Given the description of an element on the screen output the (x, y) to click on. 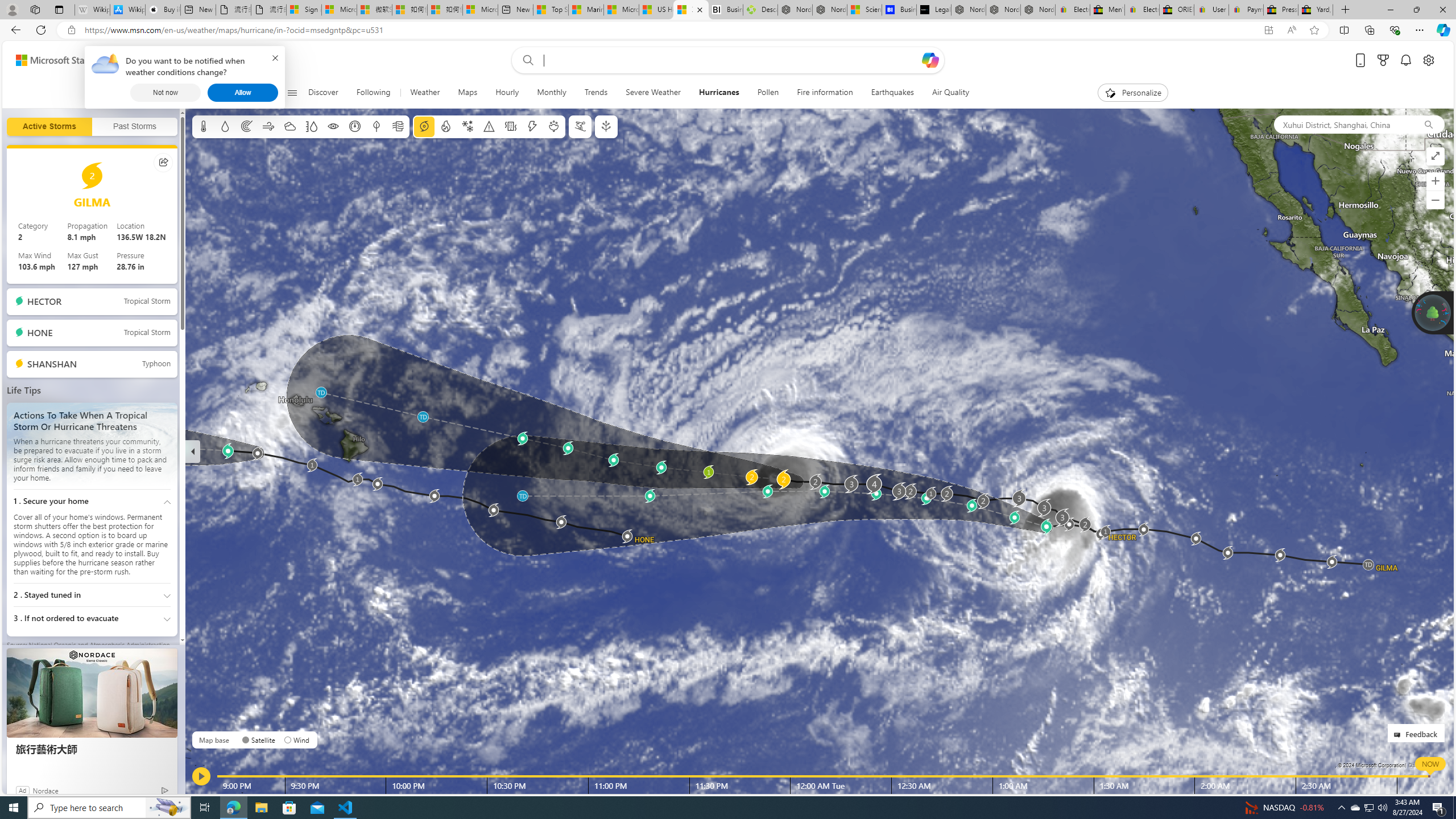
Monthly (551, 92)
Hurricanes (718, 92)
E-tree (605, 126)
Humidity (311, 126)
Not now (164, 92)
